Given the description of an element on the screen output the (x, y) to click on. 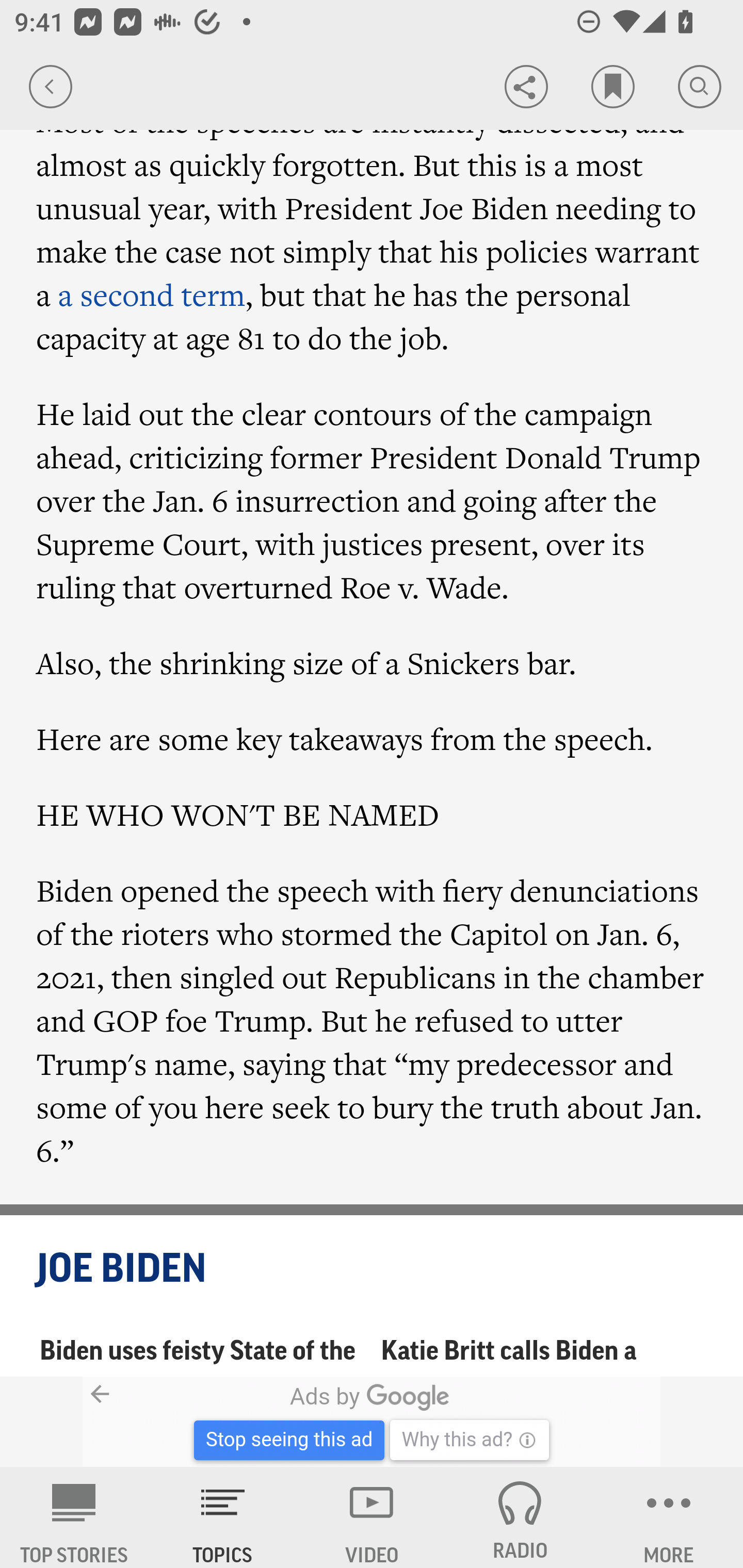
a second term (151, 294)
JOE BIDEN (372, 1269)
B30001437 (168, 1421)
AP News TOP STORIES (74, 1517)
TOPICS (222, 1517)
VIDEO (371, 1517)
RADIO (519, 1517)
MORE (668, 1517)
